Given the description of an element on the screen output the (x, y) to click on. 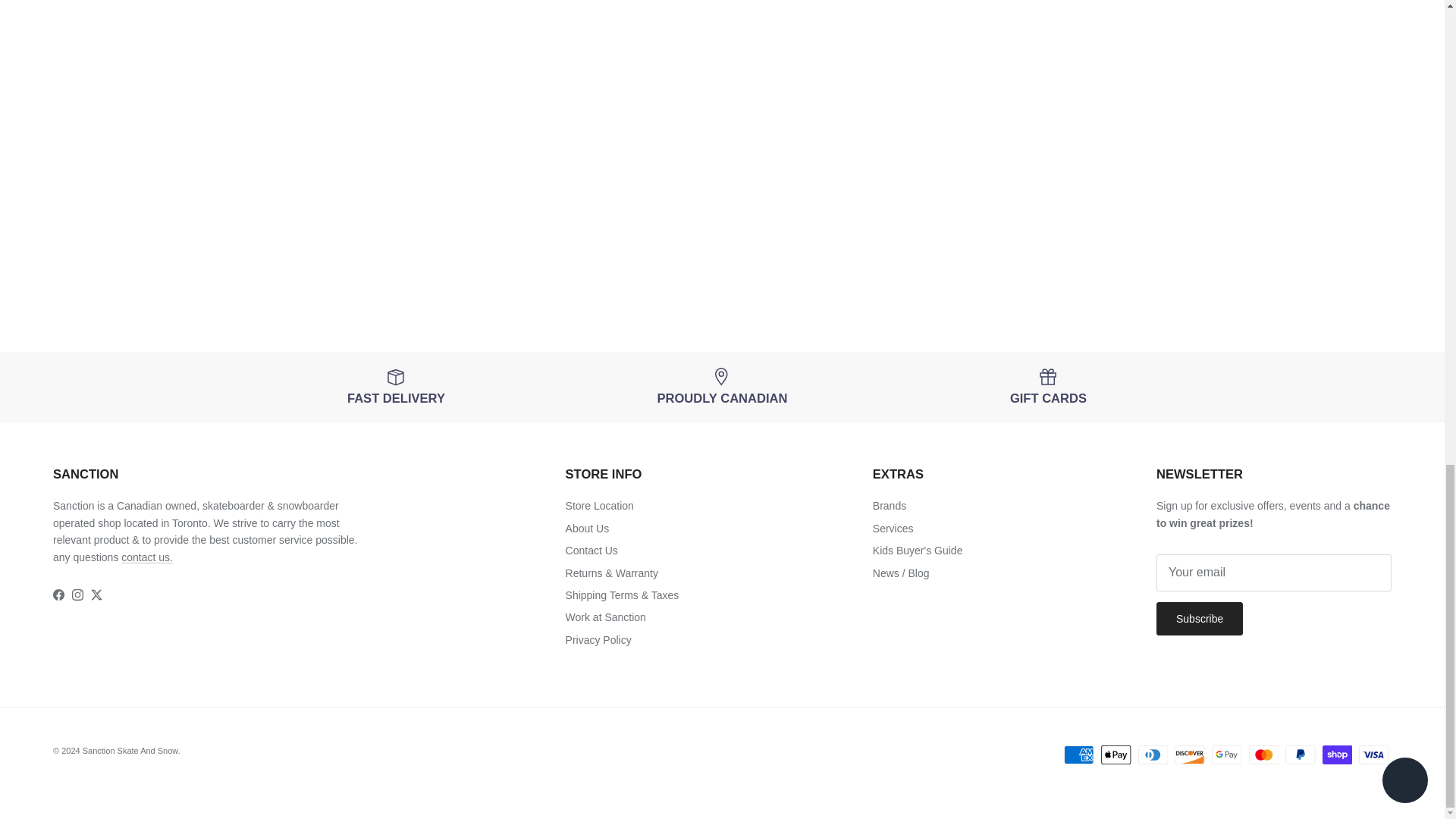
Sanction Skate And Snow on Twitter (95, 594)
Contact Us (146, 557)
Sanction Skate And Snow on Facebook (58, 594)
Sanction Skate And Snow on Instagram (76, 594)
